Given the description of an element on the screen output the (x, y) to click on. 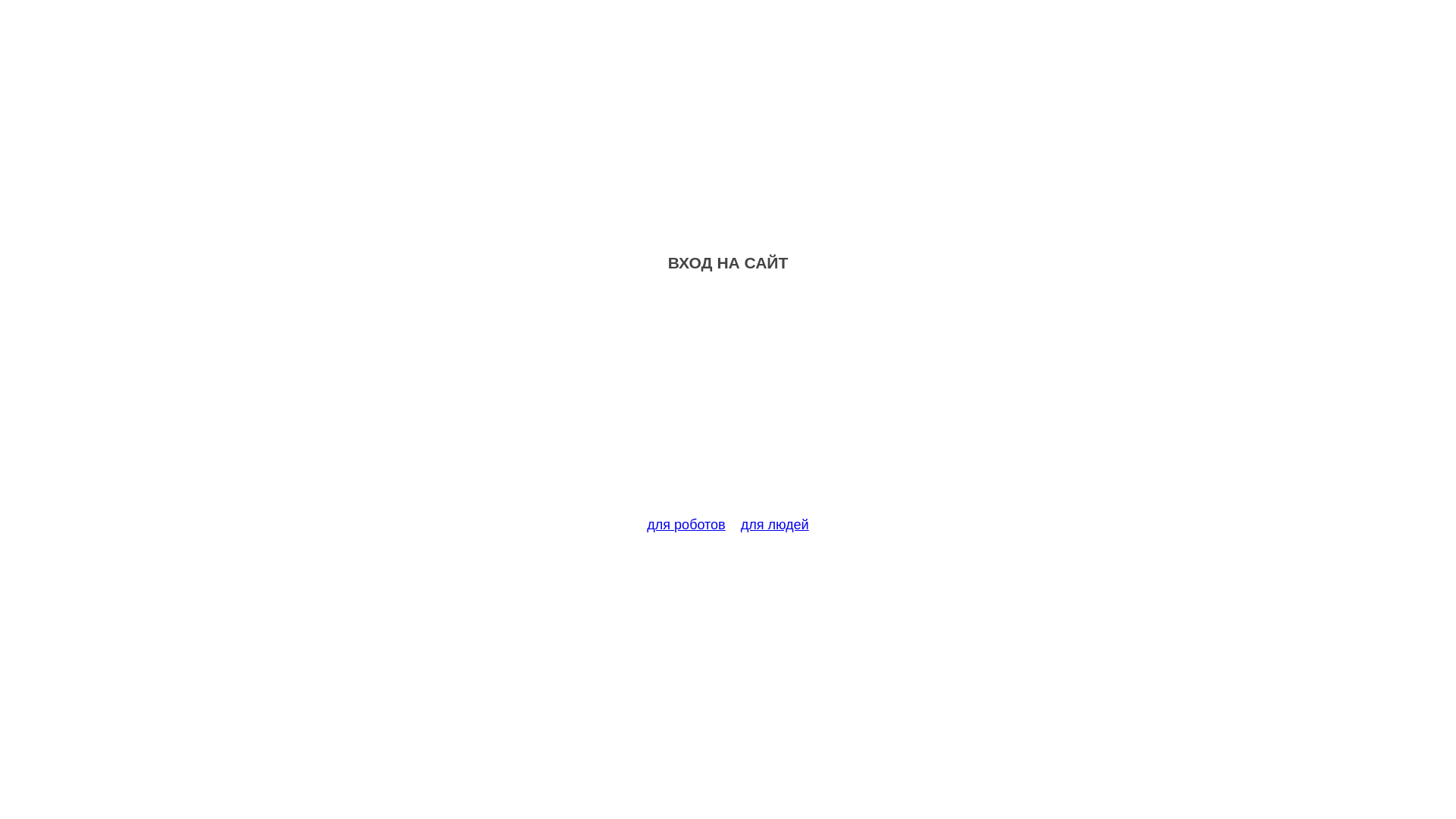
Advertisement Element type: hover (727, 403)
